Given the description of an element on the screen output the (x, y) to click on. 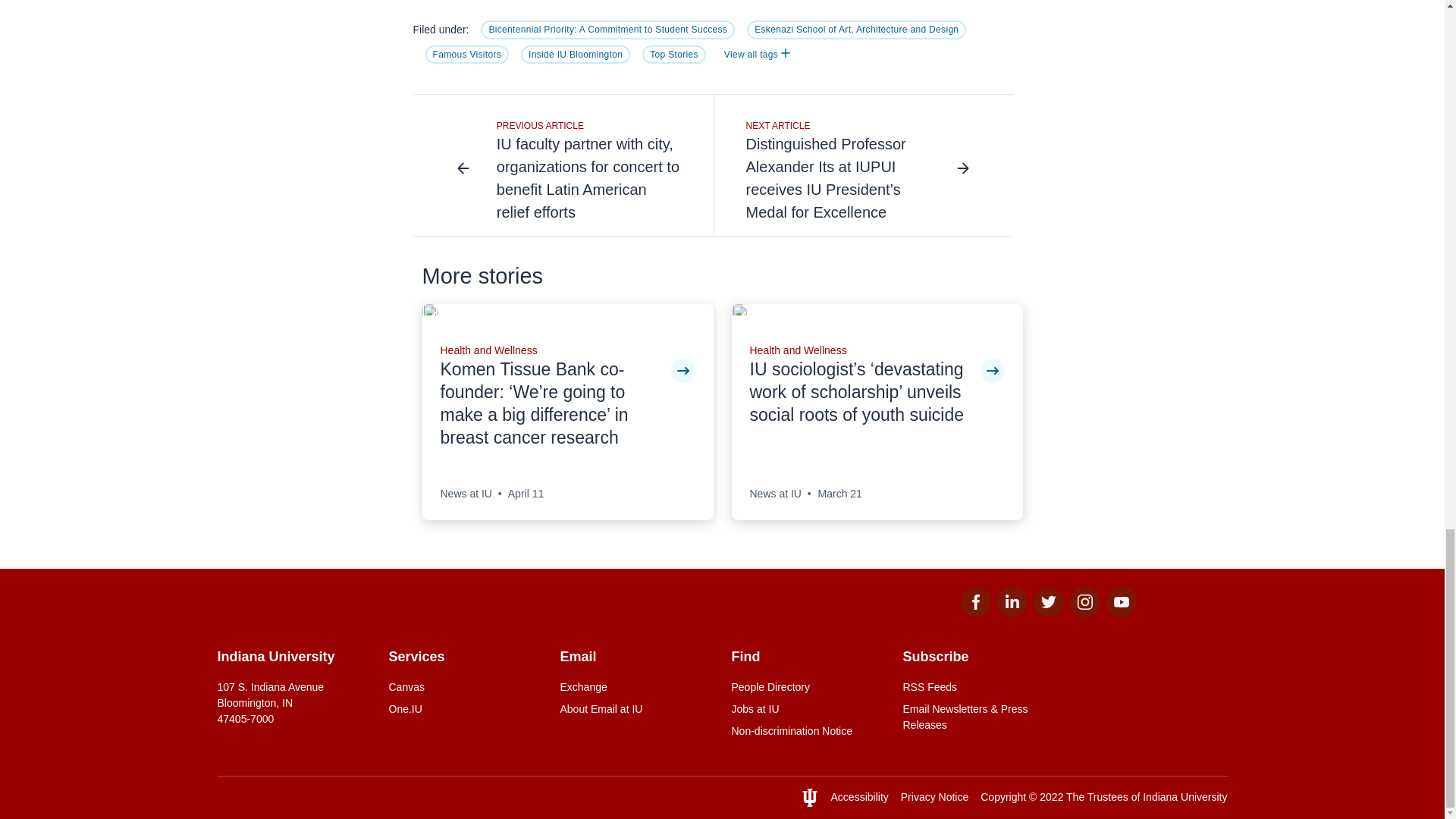
Youtube for IU (1120, 612)
Top Stories (674, 54)
Plus sign (785, 52)
Non-discrimination Notice (806, 731)
Instagram for IU (1083, 612)
Facebook for IU (974, 612)
Privacy Notice (934, 797)
Twitter for IU (1047, 612)
Copyright (1002, 797)
Eskenazi School of Art, Architecture and Design (856, 29)
RSS Feeds (978, 687)
Accessibility (859, 797)
One.IU (464, 709)
Inside IU Bloomington (575, 54)
View all tags Plus sign (756, 54)
